Given the description of an element on the screen output the (x, y) to click on. 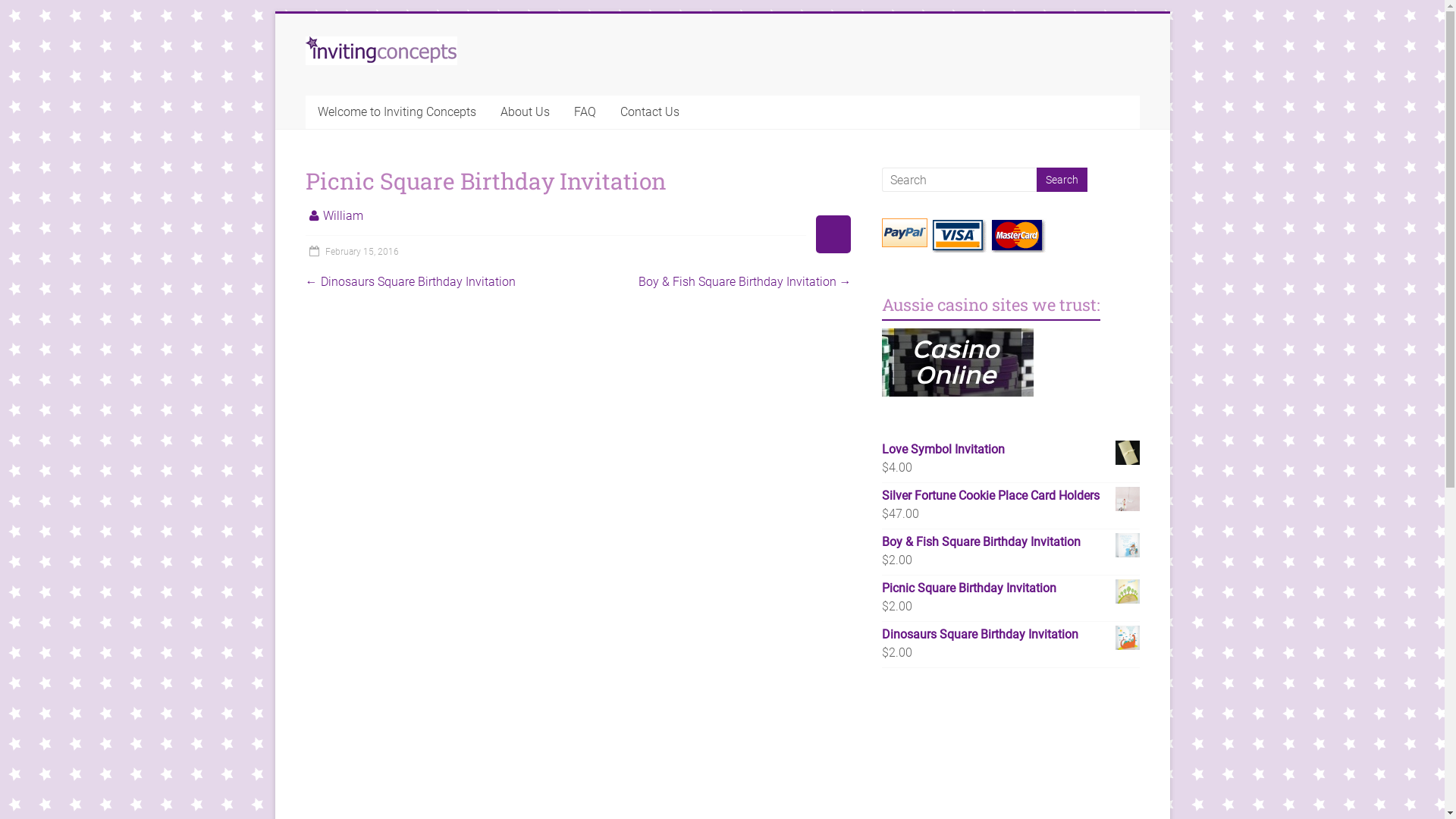
About Us Element type: text (524, 111)
FAQ Element type: text (584, 111)
Picnic Square Birthday Invitation Element type: text (1010, 588)
Welcome to Inviting Concepts Element type: text (395, 111)
Dinosaurs Square Birthday Invitation Element type: text (1010, 634)
Boy & Fish Square Birthday Invitation Element type: text (1010, 542)
Love Symbol Invitation Element type: text (1010, 449)
February 15, 2016 Element type: text (351, 251)
Search Element type: text (1060, 179)
Contact Us Element type: text (649, 111)
William Element type: text (343, 215)
Inviting Concepts Element type: hover (380, 43)
Silver Fortune Cookie Place Card Holders Element type: text (1010, 495)
